Given the description of an element on the screen output the (x, y) to click on. 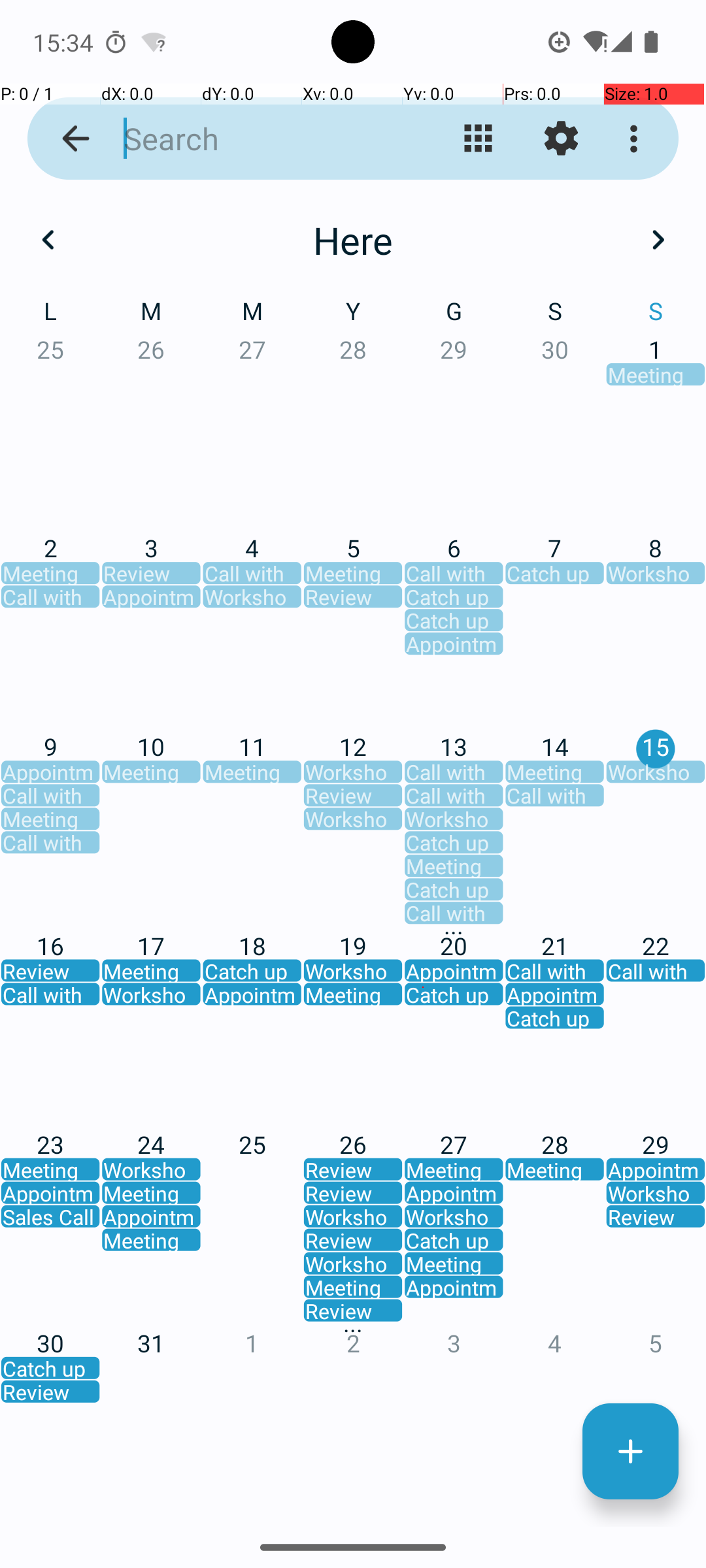
Kemmañ ar gwel Element type: android.widget.Button (477, 138)
Darvoud nevez Element type: android.widget.ImageButton (630, 1451)
Here Element type: android.widget.TextView (352, 239)
